Given the description of an element on the screen output the (x, y) to click on. 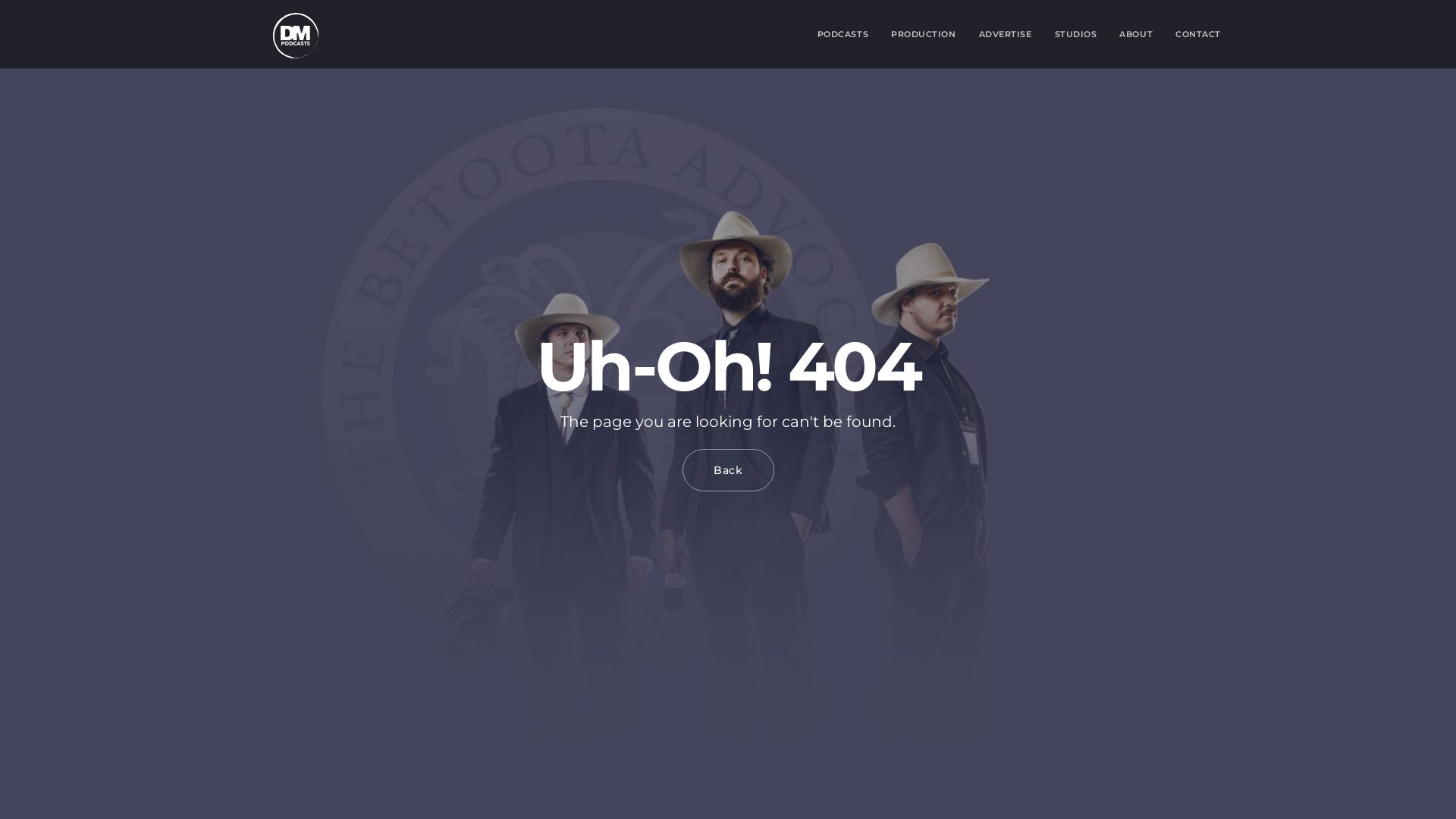
CONTACT Element type: text (1197, 34)
PRODUCTION Element type: text (923, 34)
ADVERTISE Element type: text (1005, 34)
ABOUT Element type: text (1135, 34)
STUDIOS Element type: text (1075, 34)
Back Element type: text (728, 469)
PODCASTS Element type: text (842, 34)
